Given the description of an element on the screen output the (x, y) to click on. 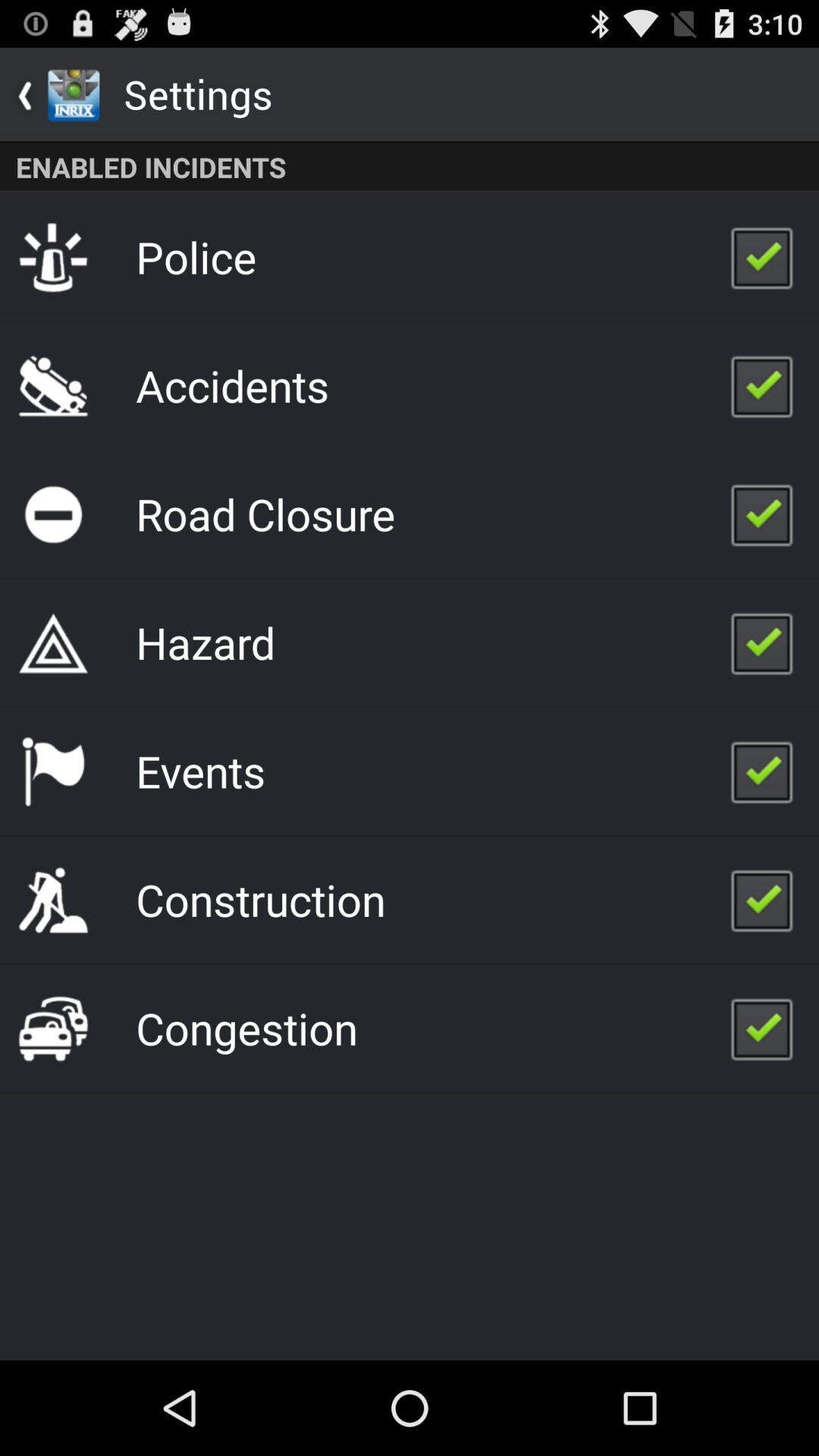
press icon below events app (260, 899)
